Given the description of an element on the screen output the (x, y) to click on. 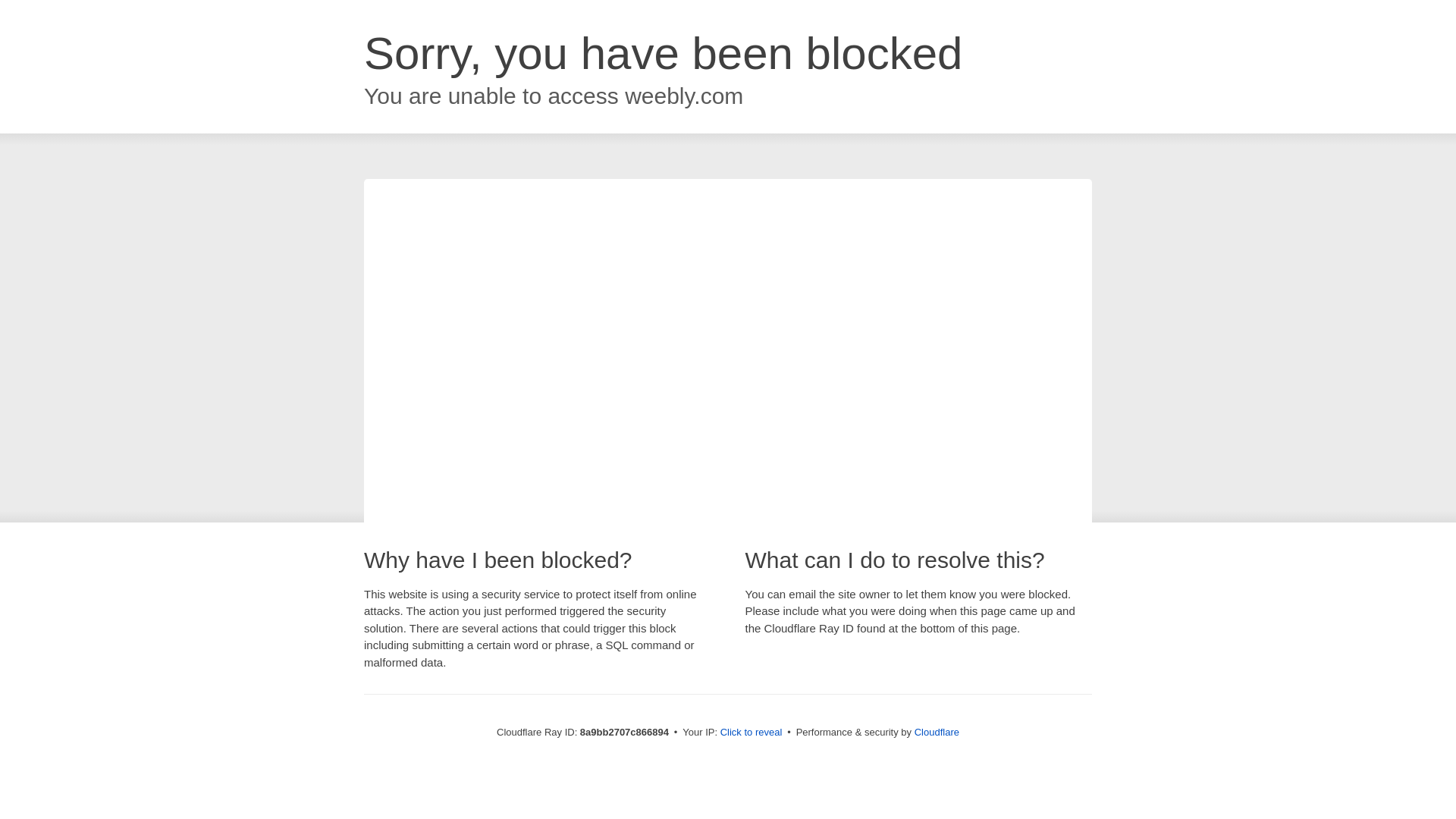
Cloudflare (936, 731)
Click to reveal (751, 732)
